Given the description of an element on the screen output the (x, y) to click on. 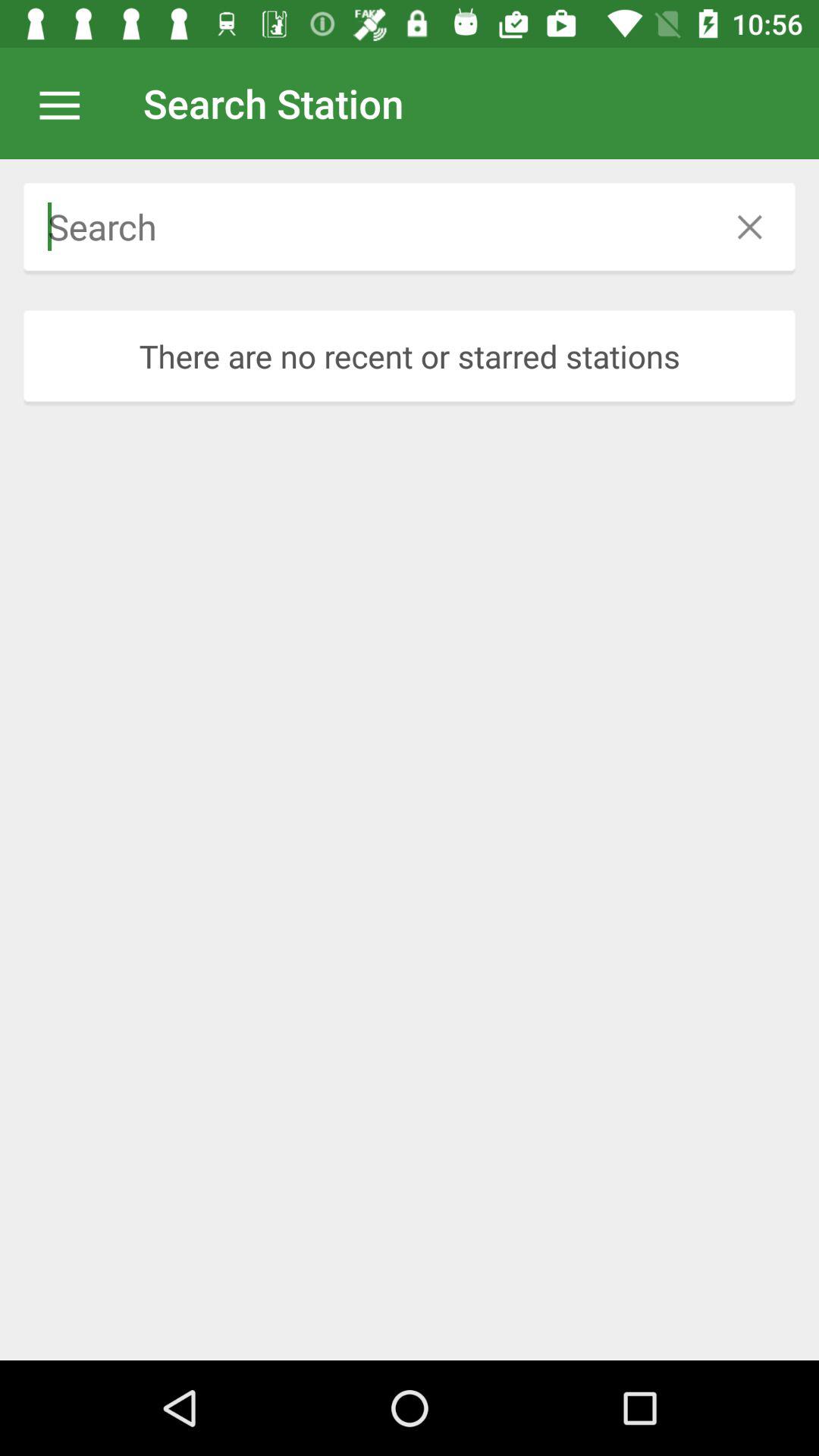
press the icon next to search station item (67, 103)
